Given the description of an element on the screen output the (x, y) to click on. 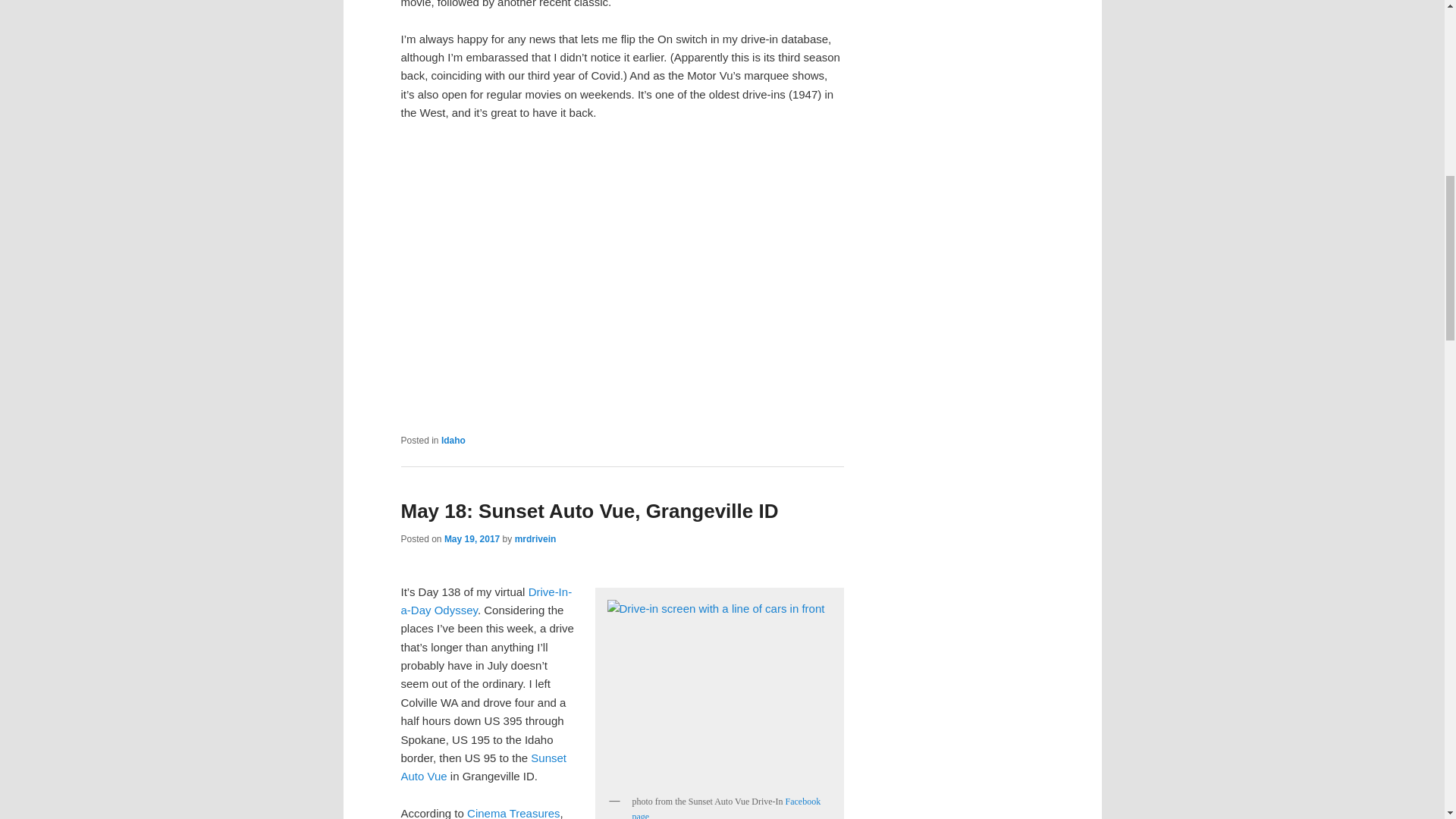
Facebook page (726, 807)
Drive-In-a-Day Odyssey (486, 600)
View all posts by mrdrivein (535, 538)
mrdrivein (535, 538)
May 19, 2017 (471, 538)
Idaho (453, 439)
5:04 am (471, 538)
May 18: Sunset Auto Vue, Grangeville ID (588, 510)
